Given the description of an element on the screen output the (x, y) to click on. 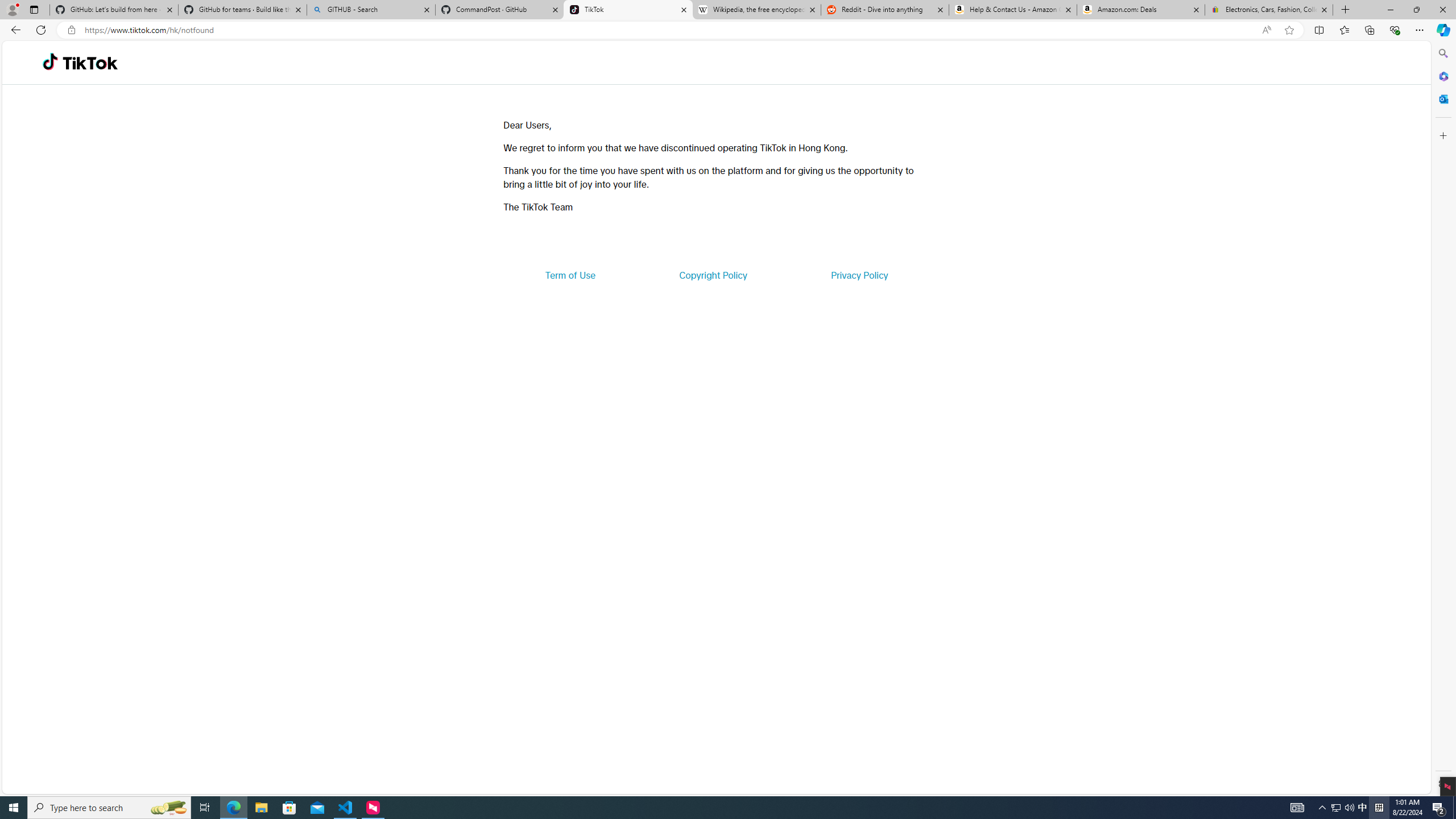
Help & Contact Us - Amazon Customer Service (1012, 9)
